Given the description of an element on the screen output the (x, y) to click on. 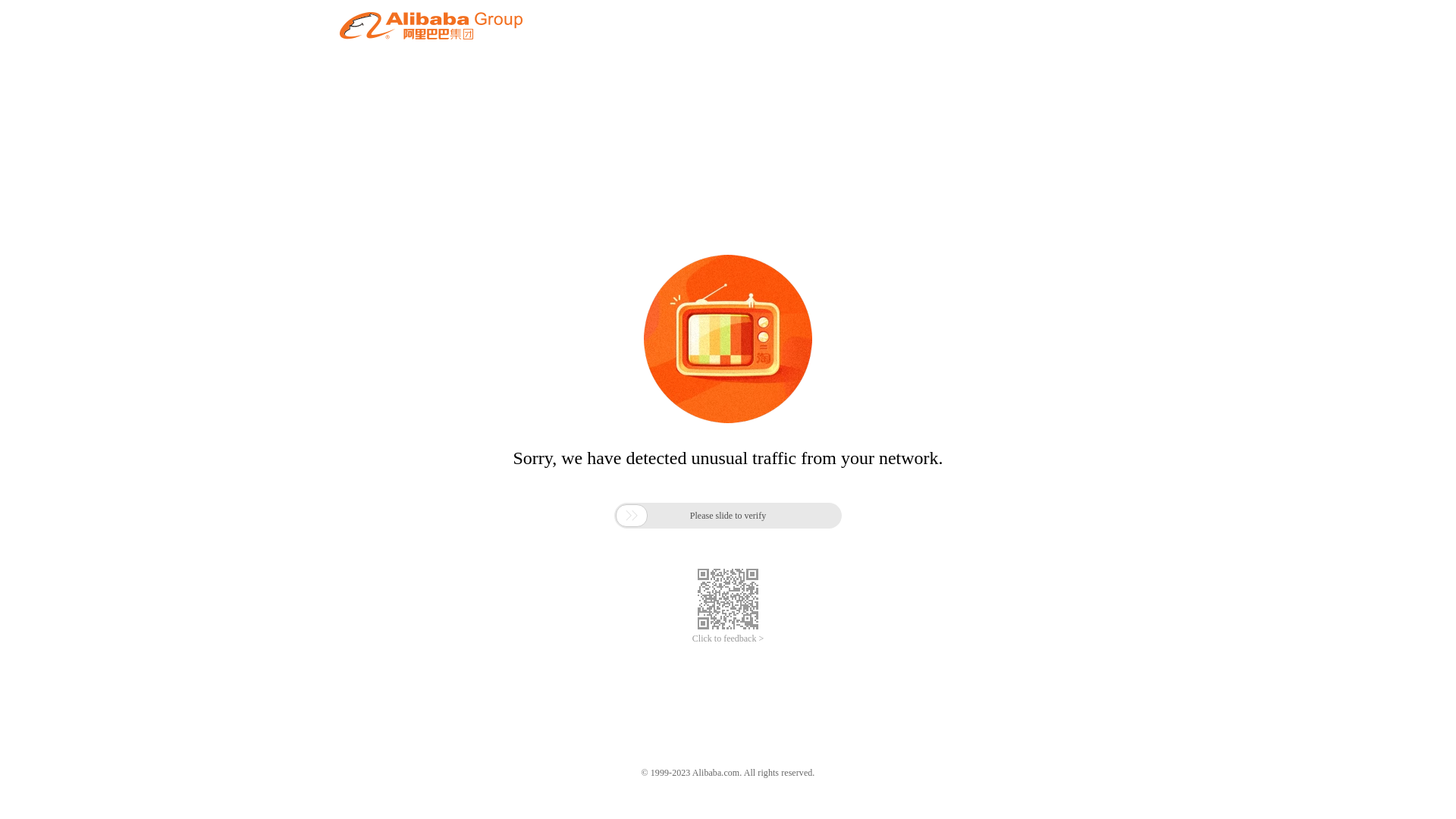
Click to feedback > Element type: text (727, 638)
